Given the description of an element on the screen output the (x, y) to click on. 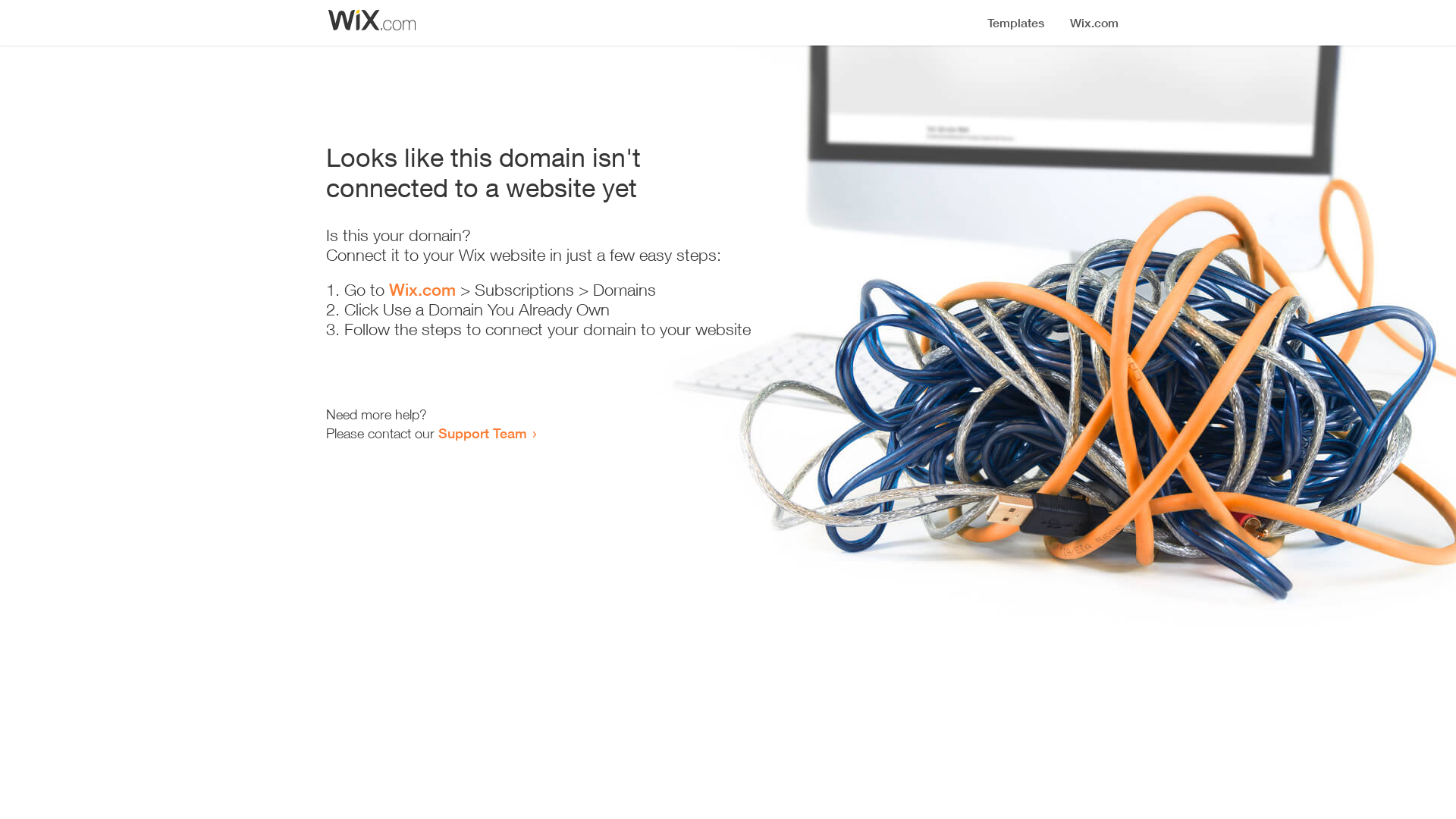
Wix.com Element type: text (422, 289)
Support Team Element type: text (482, 432)
